Given the description of an element on the screen output the (x, y) to click on. 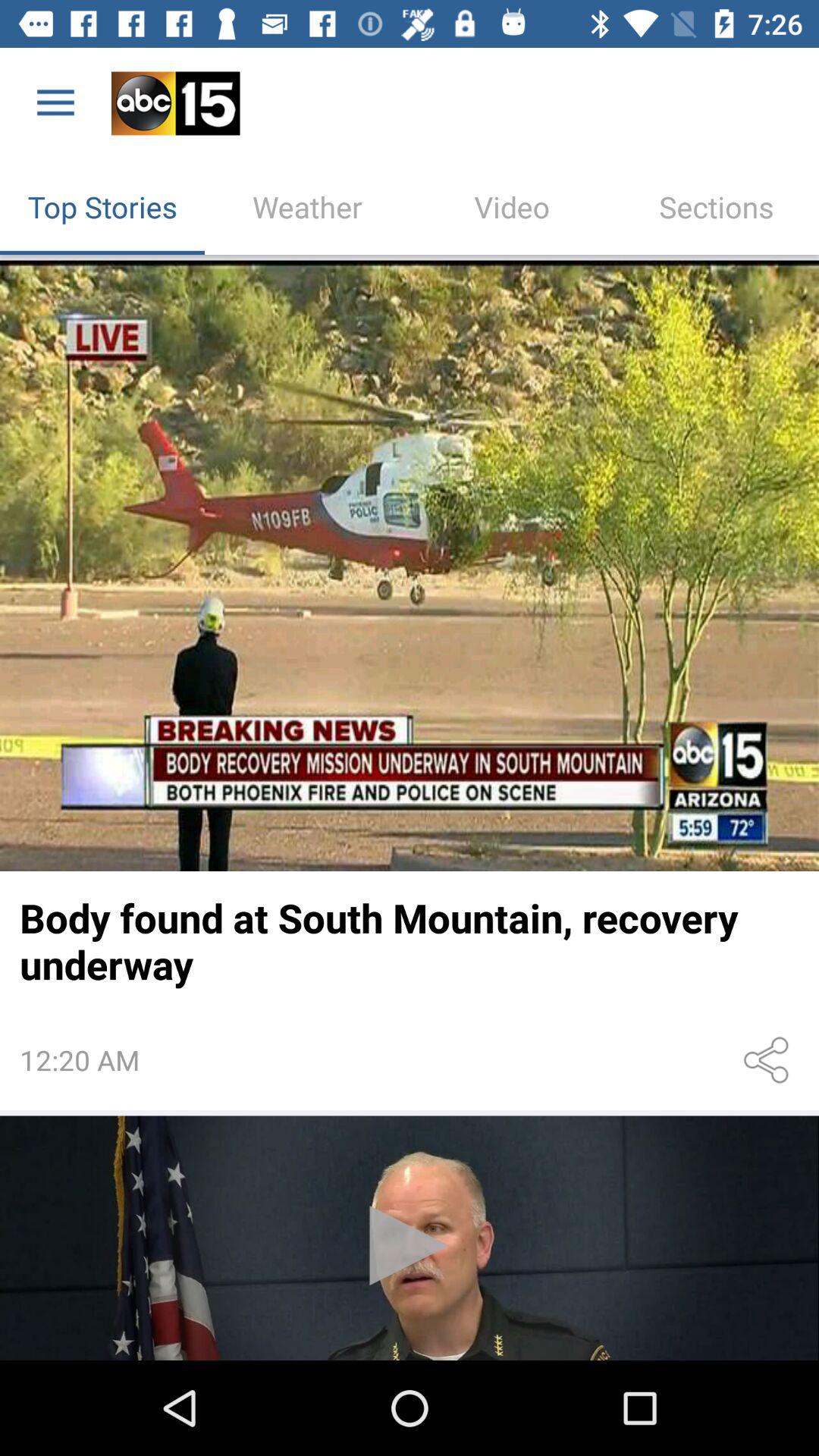
click on the image next to the menu icon (175, 103)
select video tab (511, 206)
select the share icon (769, 1060)
